Given the description of an element on the screen output the (x, y) to click on. 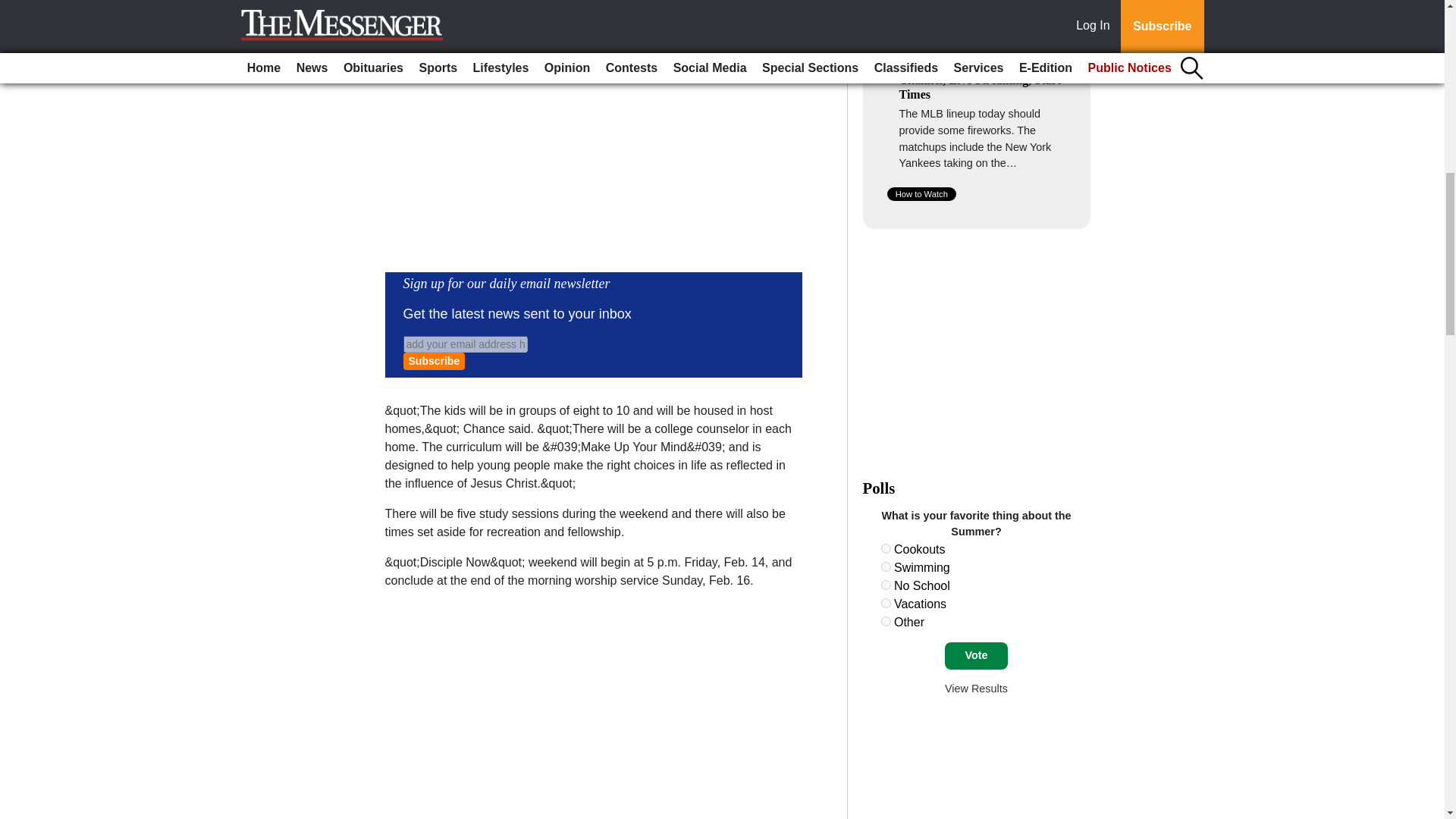
7277 (885, 603)
7275 (885, 566)
   Vote    (975, 655)
Subscribe (434, 361)
7276 (885, 584)
View Results Of This Poll (975, 688)
7274 (885, 548)
7278 (885, 621)
